Given the description of an element on the screen output the (x, y) to click on. 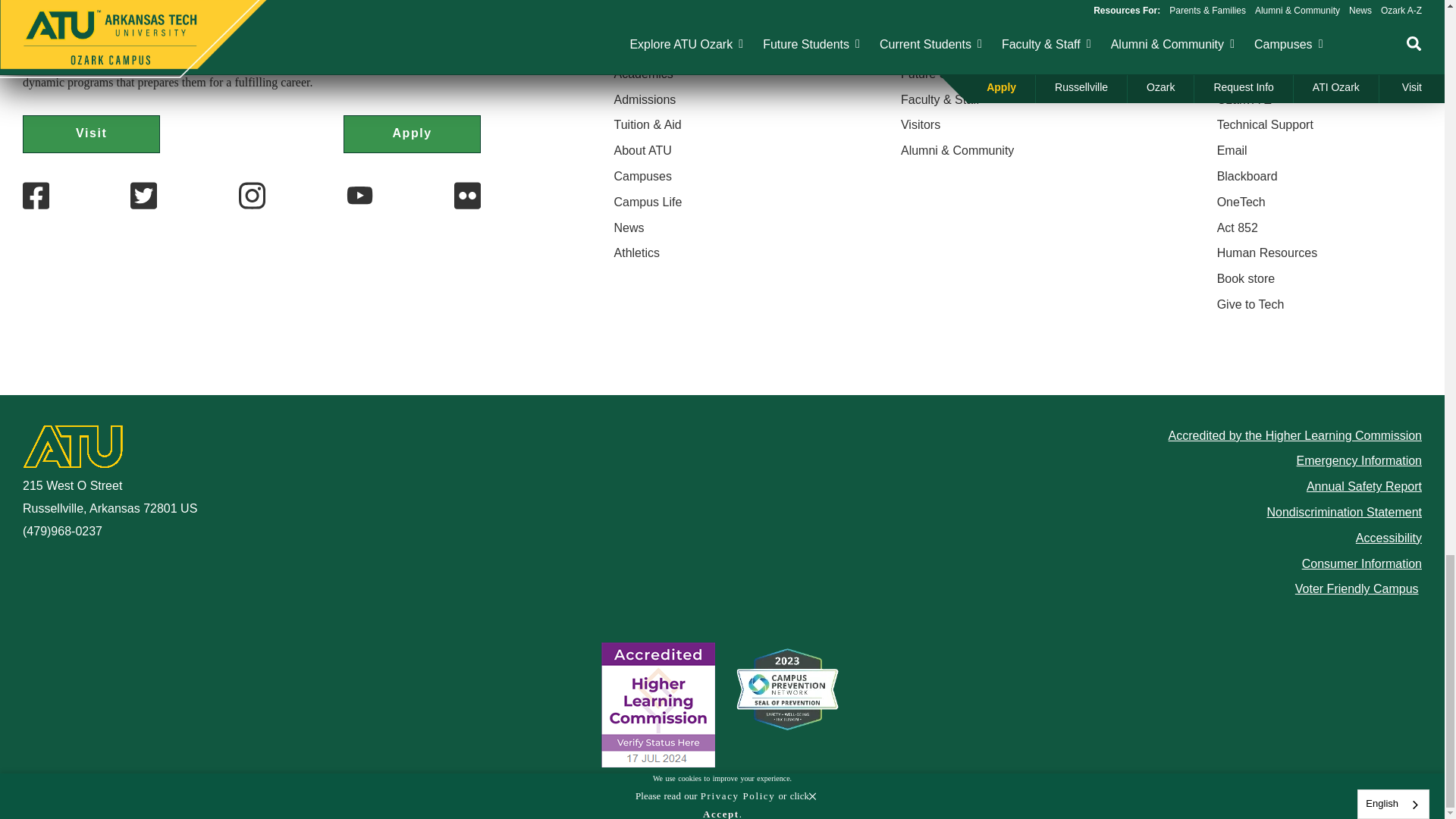
 Accreditation by the Higher Learning Commission (656, 705)
